Given the description of an element on the screen output the (x, y) to click on. 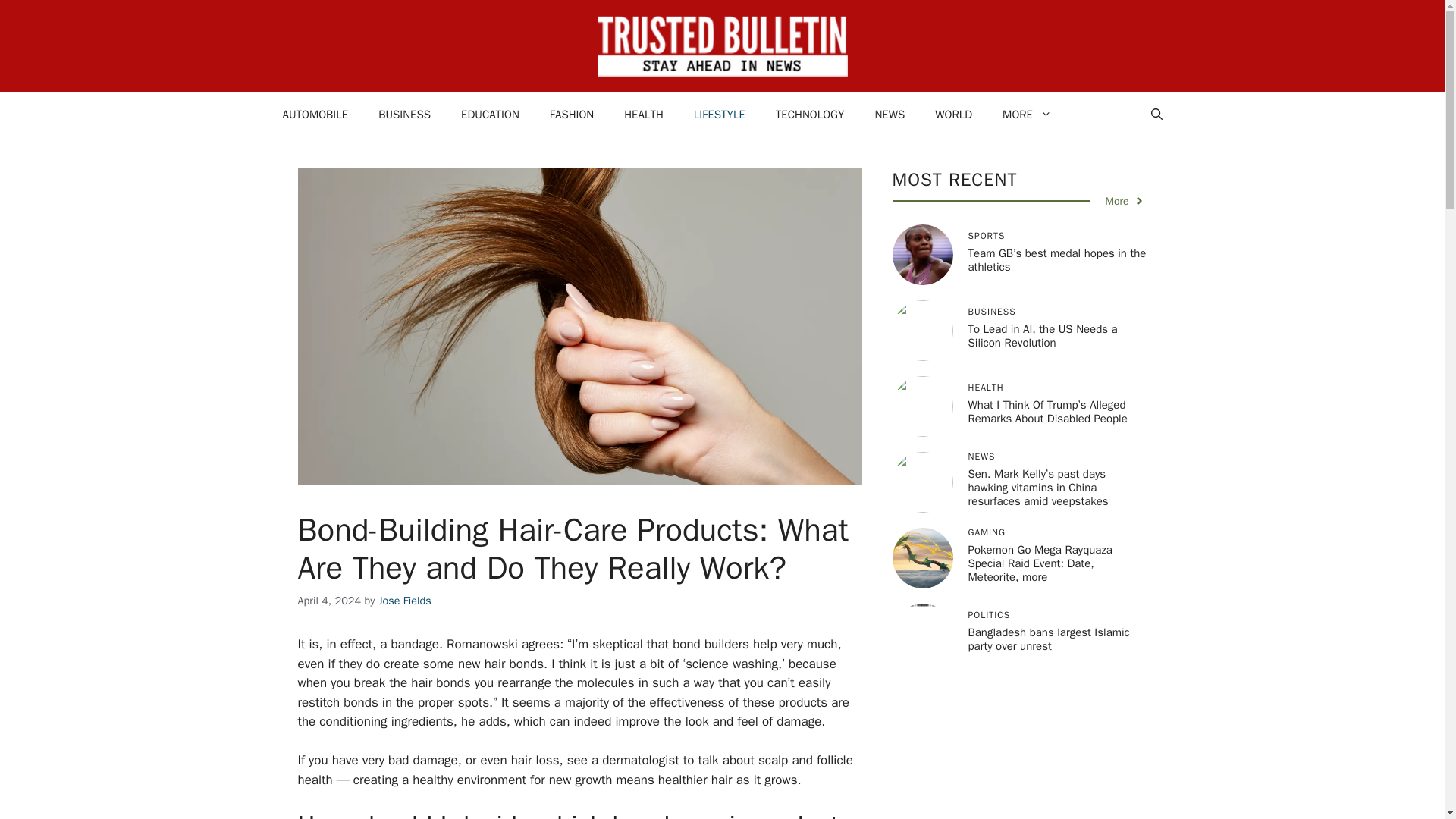
HEALTH (643, 114)
BUSINESS (403, 114)
NEWS (889, 114)
TECHNOLOGY (810, 114)
More (1124, 201)
To Lead in AI, the US Needs a Silicon Revolution (1042, 335)
MORE (1027, 114)
WORLD (953, 114)
AUTOMOBILE (314, 114)
Jose Fields (404, 600)
